Given the description of an element on the screen output the (x, y) to click on. 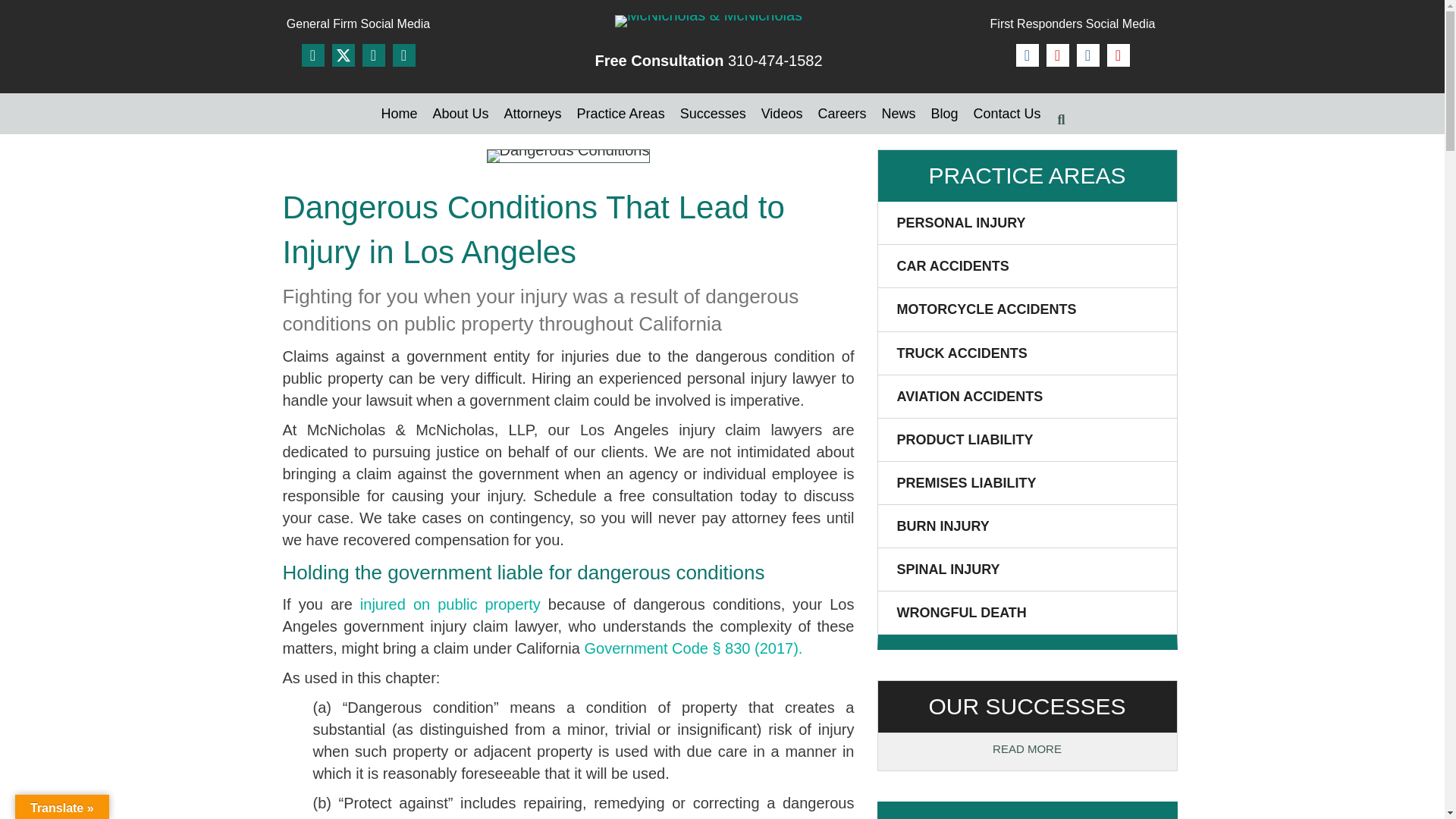
310-474-1582 (775, 60)
TikTok (1088, 55)
YouTube (1117, 55)
About Us (460, 113)
LinkedIn (373, 55)
Instagram (1057, 55)
Attorneys (532, 113)
Home (398, 113)
Facebook (312, 55)
Facebook (1027, 55)
